Given the description of an element on the screen output the (x, y) to click on. 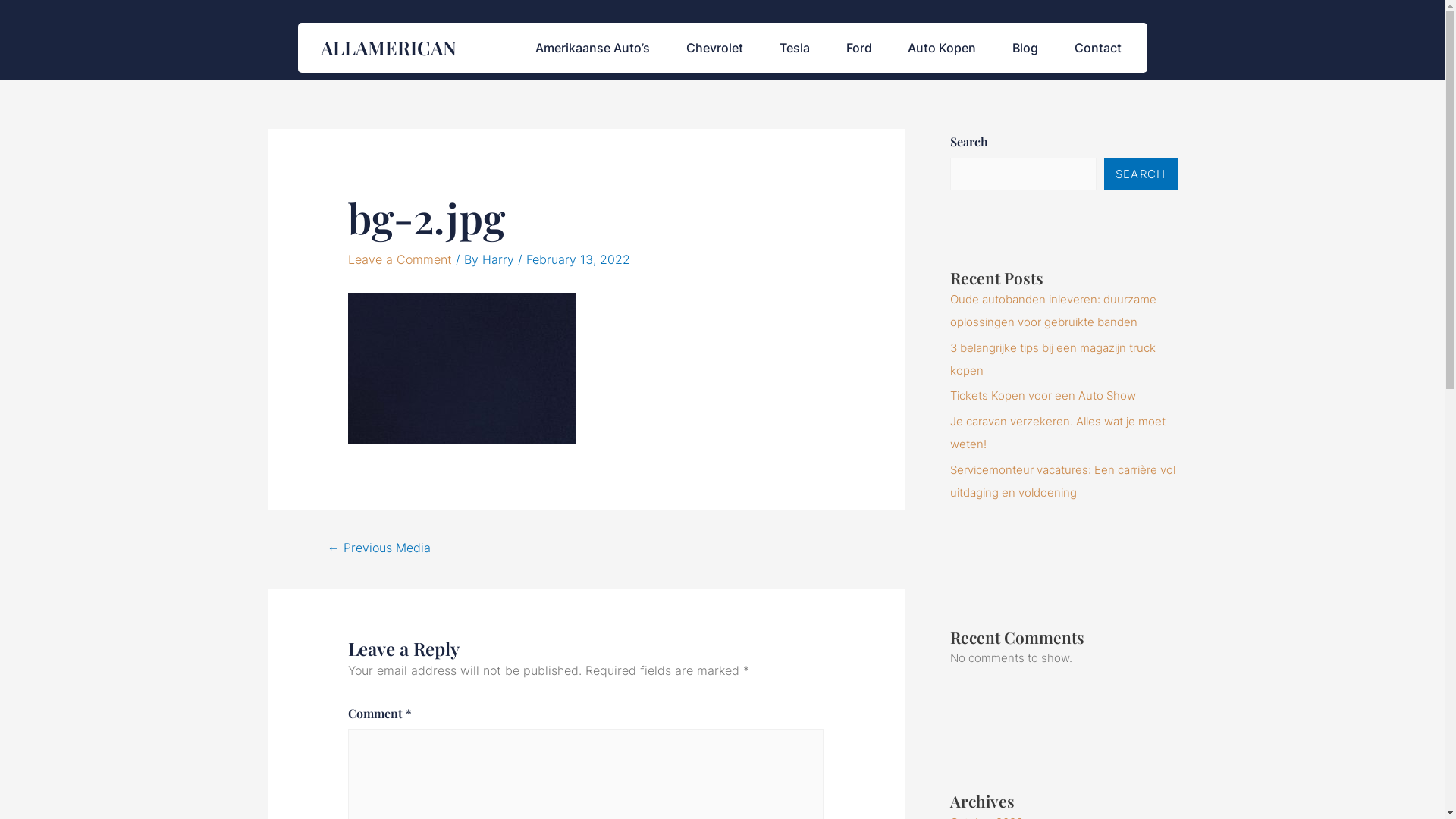
Tickets Kopen voor een Auto Show Element type: text (1042, 395)
Blog Element type: text (1025, 47)
Contact Element type: text (1097, 47)
3 belangrijke tips bij een magazijn truck kopen Element type: text (1051, 358)
ALLAMERICAN Element type: text (387, 46)
Tesla Element type: text (794, 47)
Auto Kopen Element type: text (941, 47)
Chevrolet Element type: text (714, 47)
Leave a Comment Element type: text (399, 258)
SEARCH Element type: text (1140, 173)
Je caravan verzekeren. Alles wat je moet weten! Element type: text (1056, 432)
Harry Element type: text (499, 258)
Ford Element type: text (859, 47)
